Given the description of an element on the screen output the (x, y) to click on. 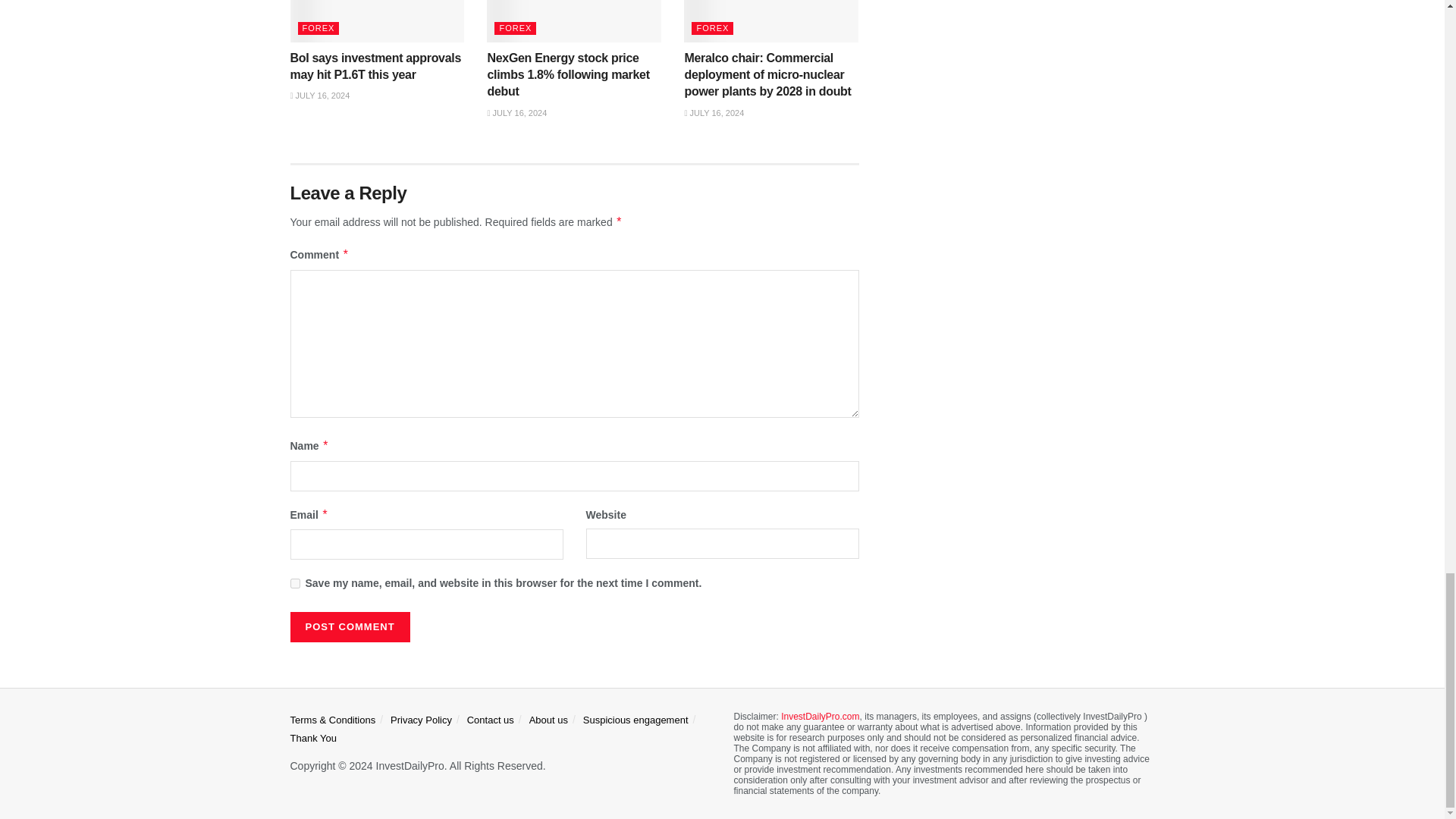
yes (294, 583)
Post Comment (349, 626)
